Given the description of an element on the screen output the (x, y) to click on. 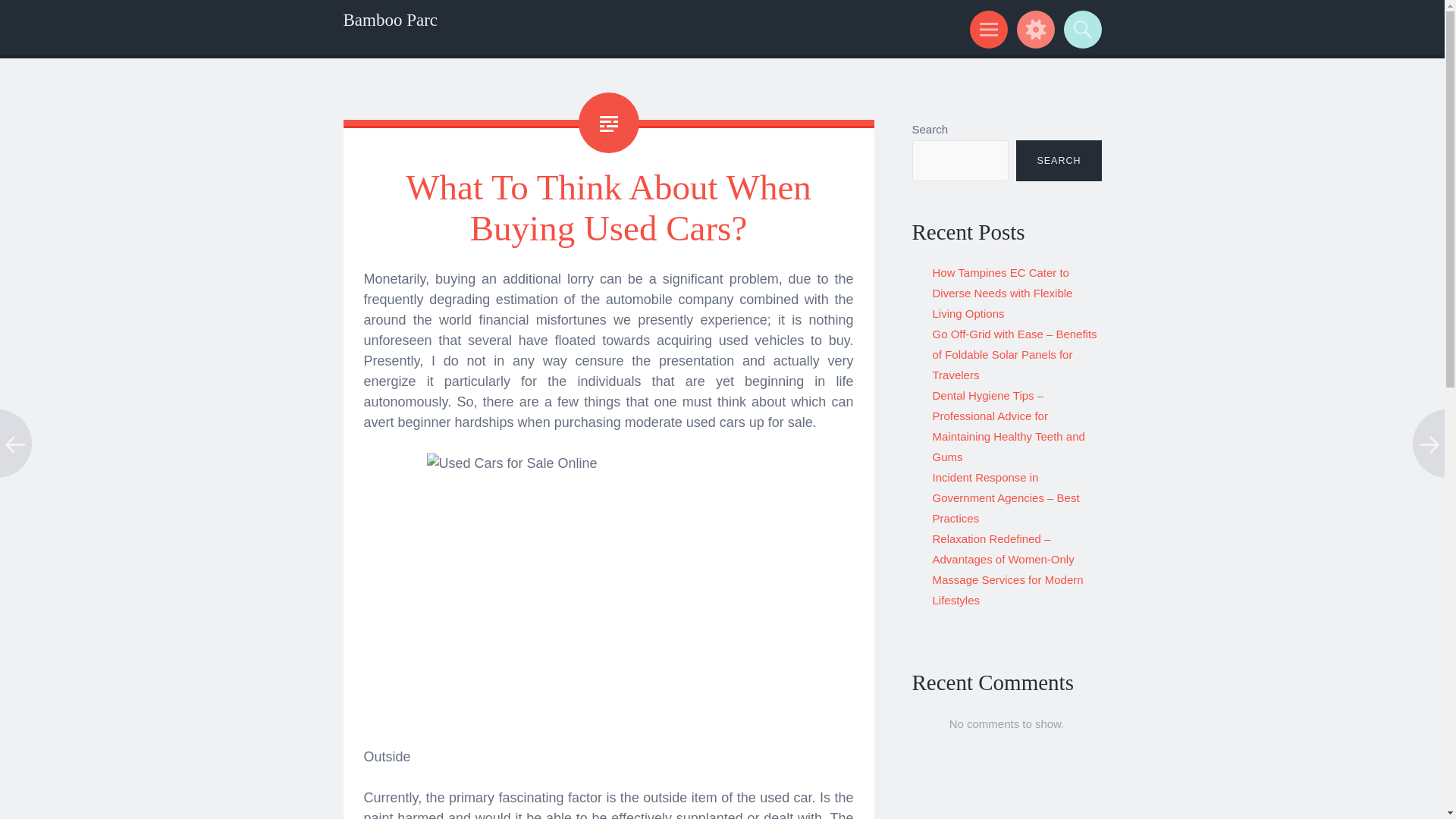
Widgets (1032, 29)
Bamboo Parc (390, 19)
Menu (985, 29)
Search (1080, 29)
